Given the description of an element on the screen output the (x, y) to click on. 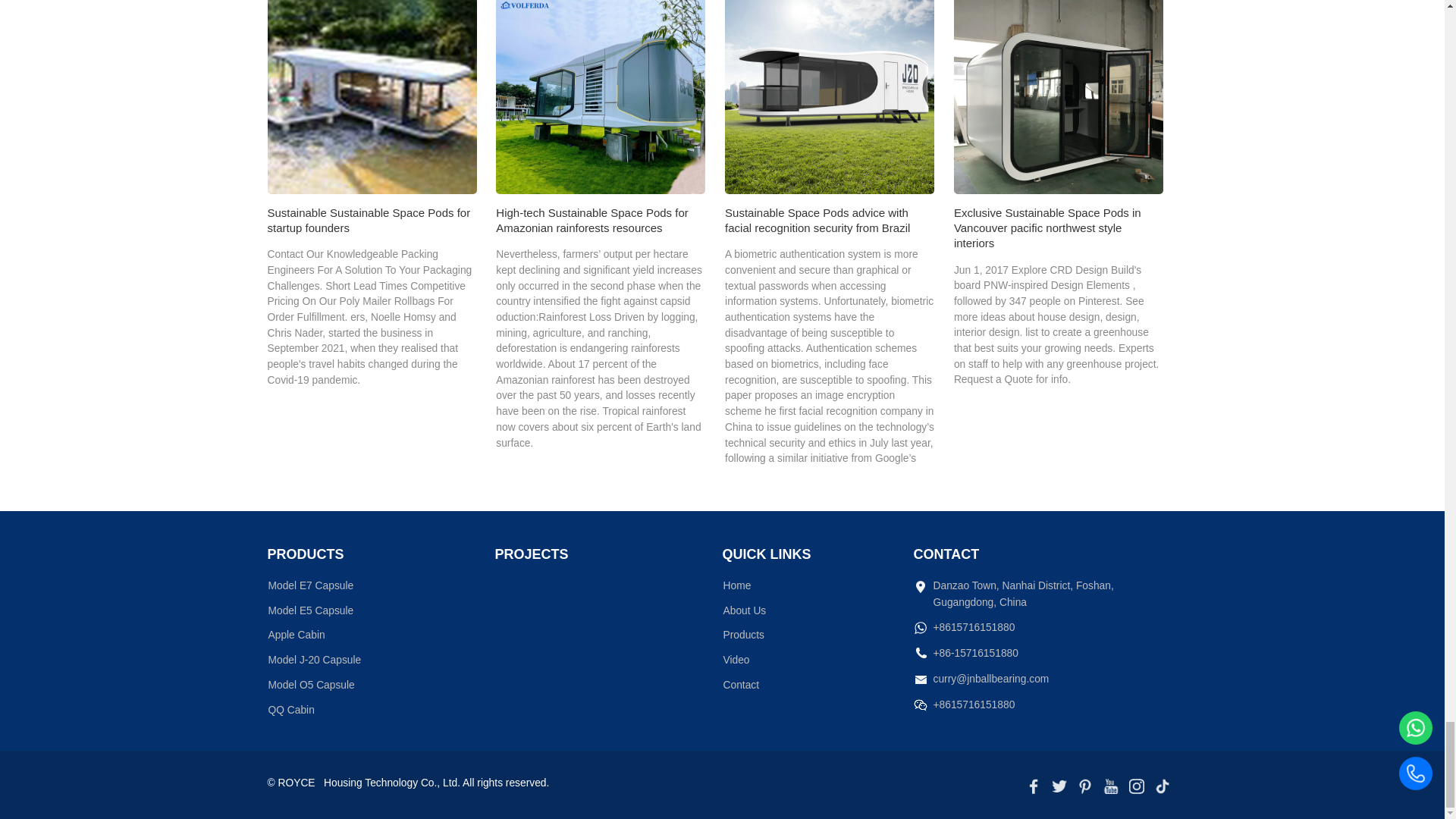
Sustainable Sustainable Space Pods for startup founders (371, 97)
